Given the description of an element on the screen output the (x, y) to click on. 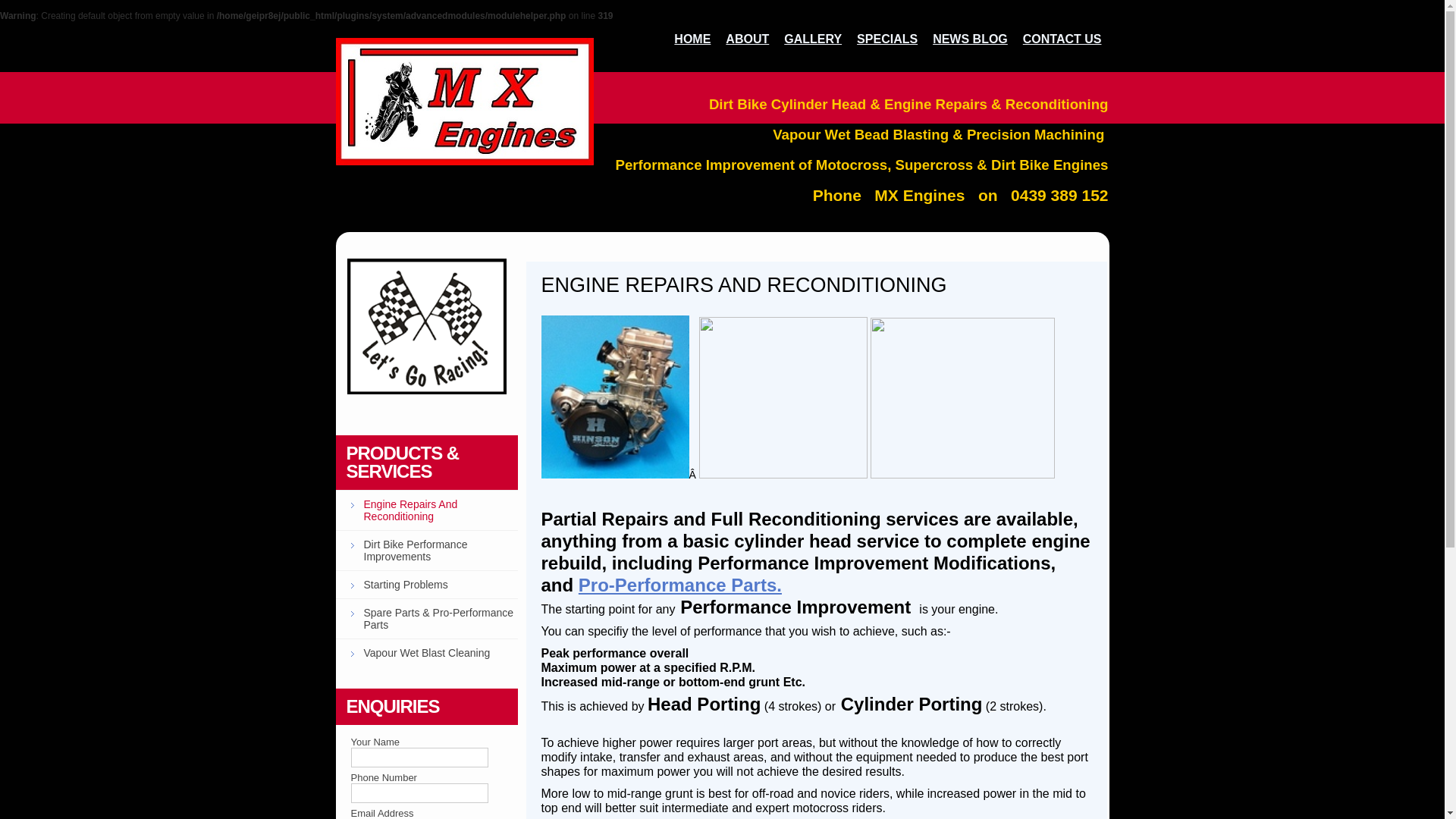
Dirt Bike Performance Improvements Element type: text (426, 550)
MX Engines Brisbane Capalaba Qld Australia Element type: hover (426, 326)
Spare Parts & Pro-Performance Parts Element type: text (426, 618)
Vapour Wet Blast Cleaning Element type: text (426, 652)
NEWS BLOG Element type: text (969, 38)
CONTACT US Element type: text (1061, 38)
GALLERY Element type: text (812, 38)
SPECIALS Element type: text (886, 38)
HOME Element type: text (692, 38)
Starting Problems Element type: text (426, 584)
Engine Repairs And Reconditioning Element type: text (426, 509)
ABOUT Element type: text (746, 38)
Pro-Performance Parts. Element type: text (679, 584)
